Given the description of an element on the screen output the (x, y) to click on. 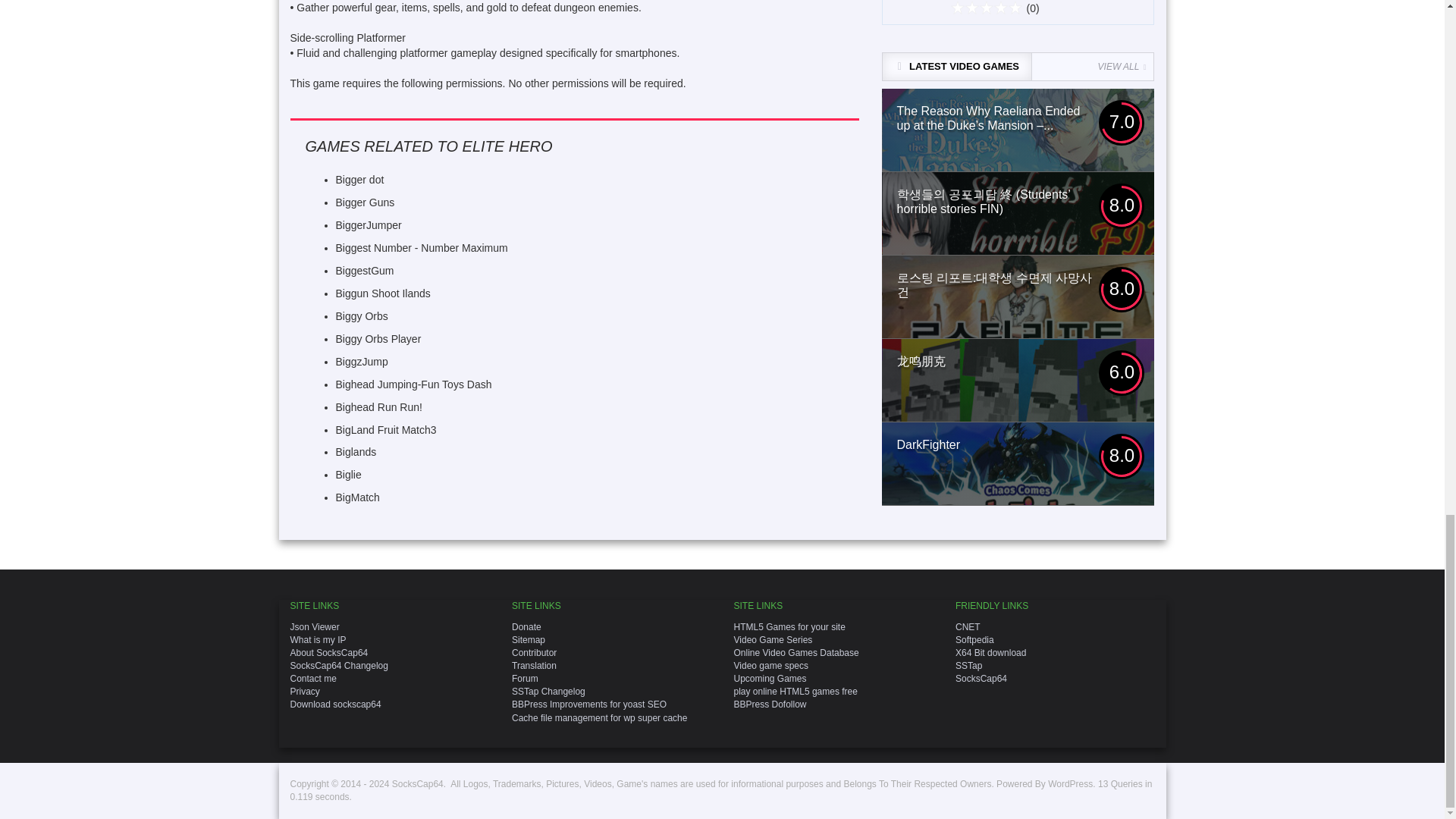
Bigger Guns (364, 202)
Bigger dot (359, 179)
BiggerJumper (367, 224)
